Given the description of an element on the screen output the (x, y) to click on. 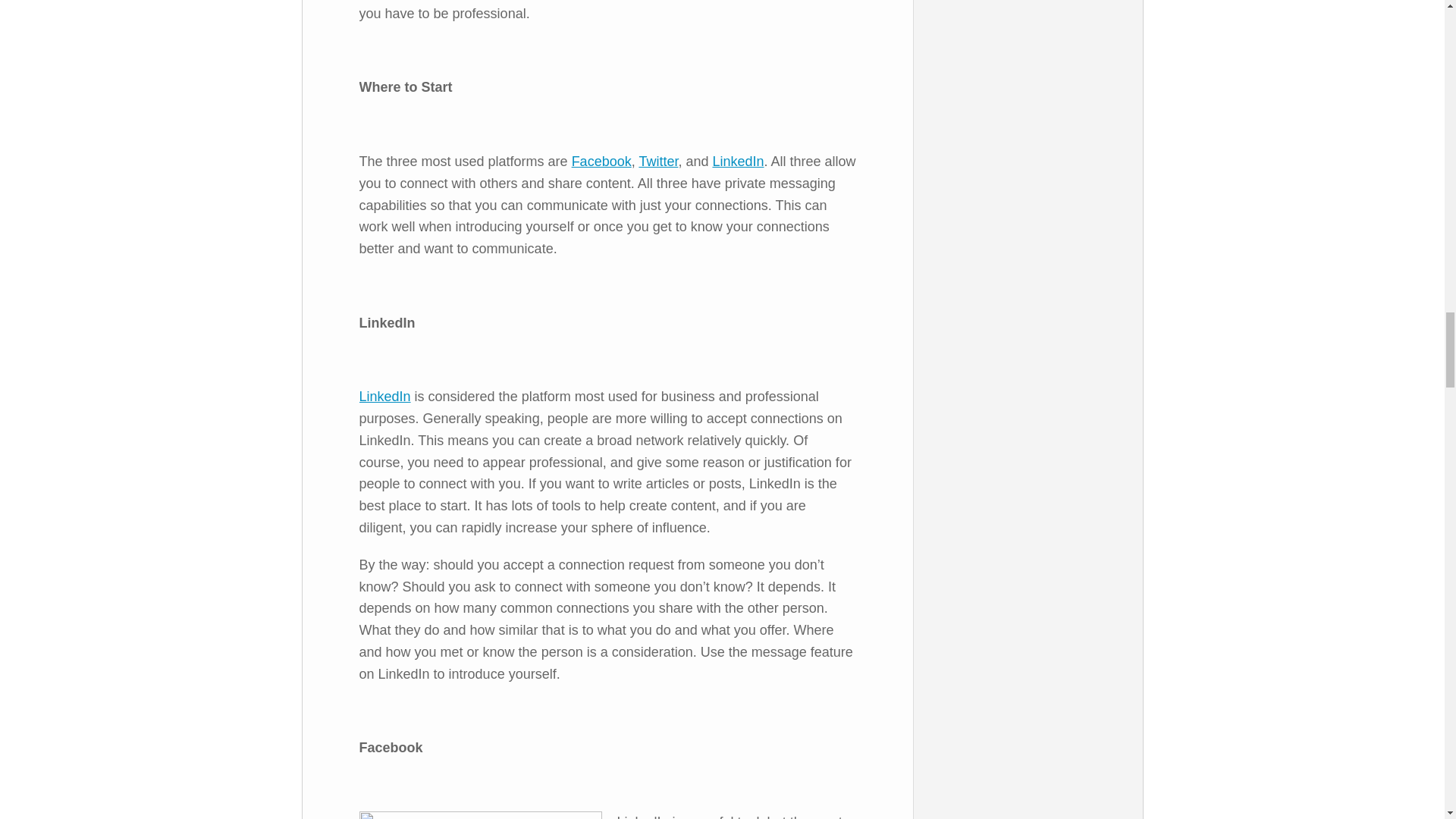
LinkedIn (736, 160)
LinkedIn (384, 396)
Twitter (658, 160)
Facebook (601, 160)
